Given the description of an element on the screen output the (x, y) to click on. 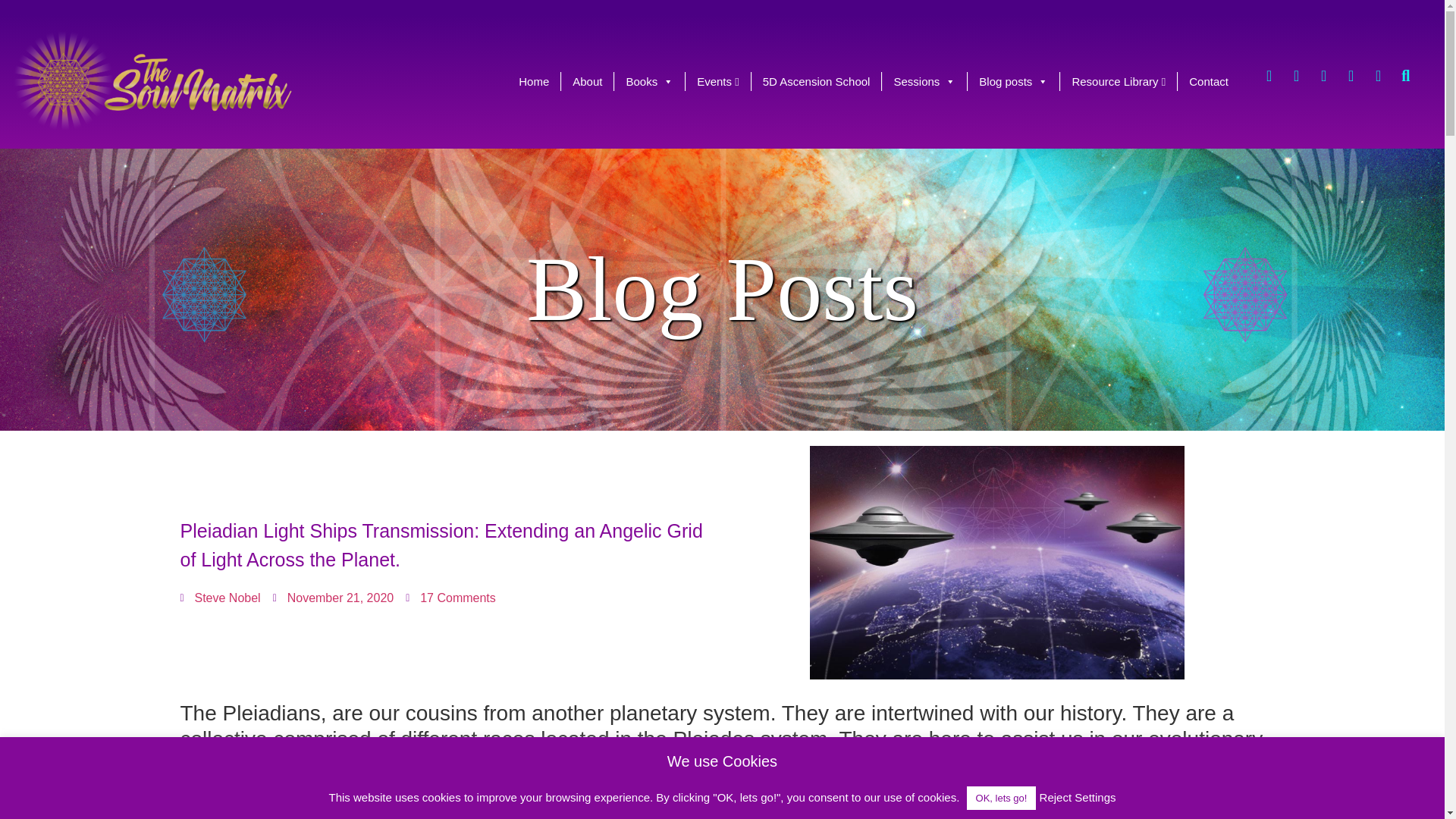
Books (649, 81)
Blog posts (1013, 81)
Contact (1208, 81)
5D Ascension School (816, 81)
About (586, 81)
Home (533, 81)
Events (718, 81)
Sessions (924, 81)
Resource Library (1117, 81)
